Given the description of an element on the screen output the (x, y) to click on. 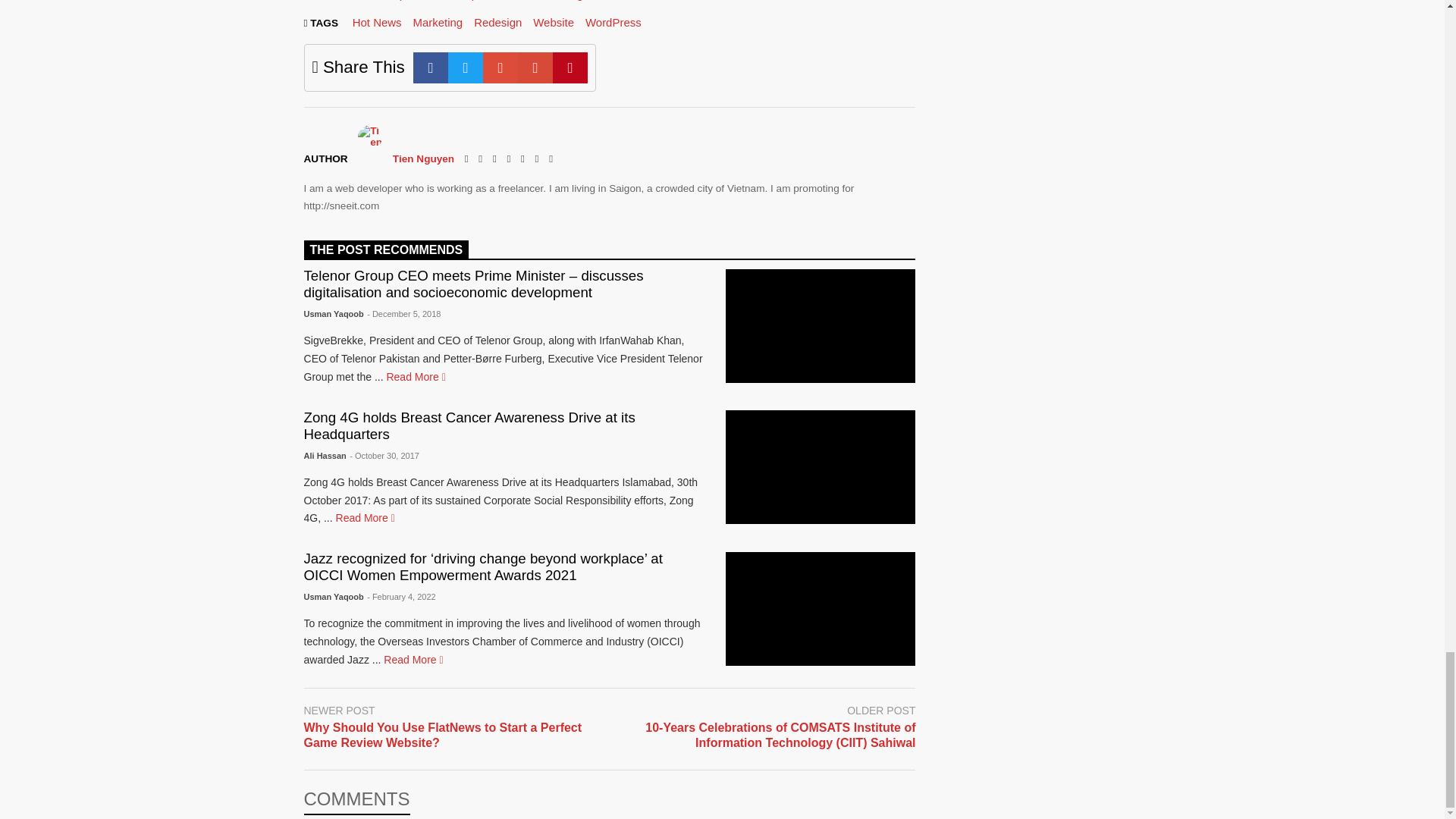
Facebook (430, 67)
Twitter (465, 67)
